Given the description of an element on the screen output the (x, y) to click on. 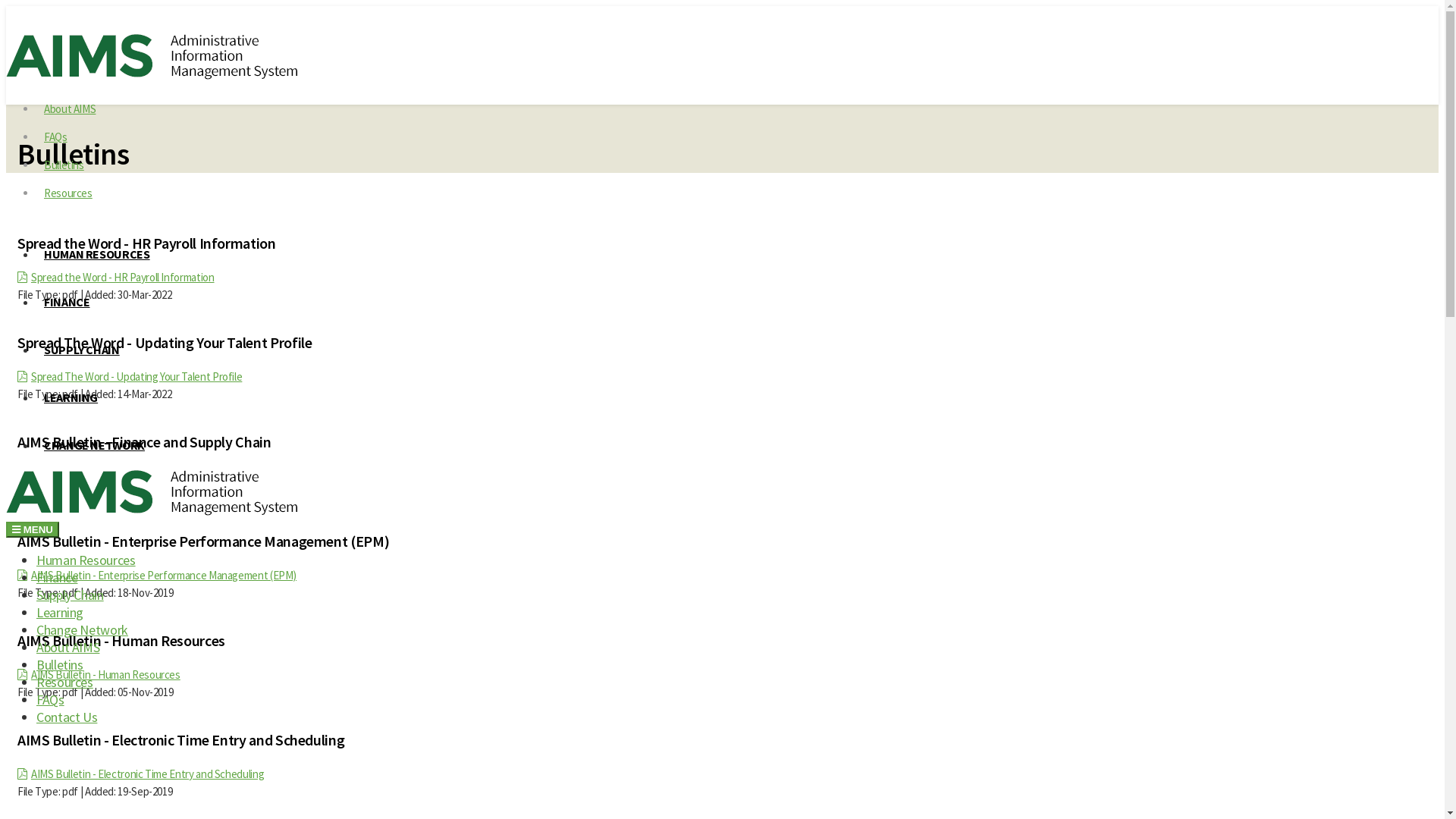
CHANGE NETWORK Element type: text (94, 445)
AIMS Bulletin - Enterprise Performance Management (EPM) Element type: text (163, 574)
Resources Element type: text (68, 192)
Finance Element type: text (56, 577)
HUMAN RESOURCES Element type: text (96, 253)
Spread The Word - Updating Your Talent Profile Element type: text (136, 376)
Bulletins Element type: text (59, 664)
AIMS Bulletin - Human Resources Element type: text (105, 674)
LEARNING Element type: text (70, 397)
Human Resources Element type: text (85, 559)
Resources Element type: text (64, 681)
Supply Chain Element type: text (69, 594)
About AIMS Element type: text (67, 646)
Contact Us Element type: text (66, 716)
FAQs Element type: text (55, 136)
Spread the Word - HR Payroll Information Element type: text (122, 276)
FAQs Element type: text (50, 699)
Change Network Element type: text (82, 629)
MENU Element type: text (32, 529)
About AIMS Element type: text (69, 108)
AIMS Bulletin - Electronic Time Entry and Scheduling Element type: text (147, 773)
Bulletins Element type: text (63, 164)
SUPPLY CHAIN Element type: text (81, 349)
AIMS Bulletin - Finance and Supply Chain Element type: text (121, 475)
FINANCE Element type: text (66, 301)
Learning Element type: text (59, 612)
